Given the description of an element on the screen output the (x, y) to click on. 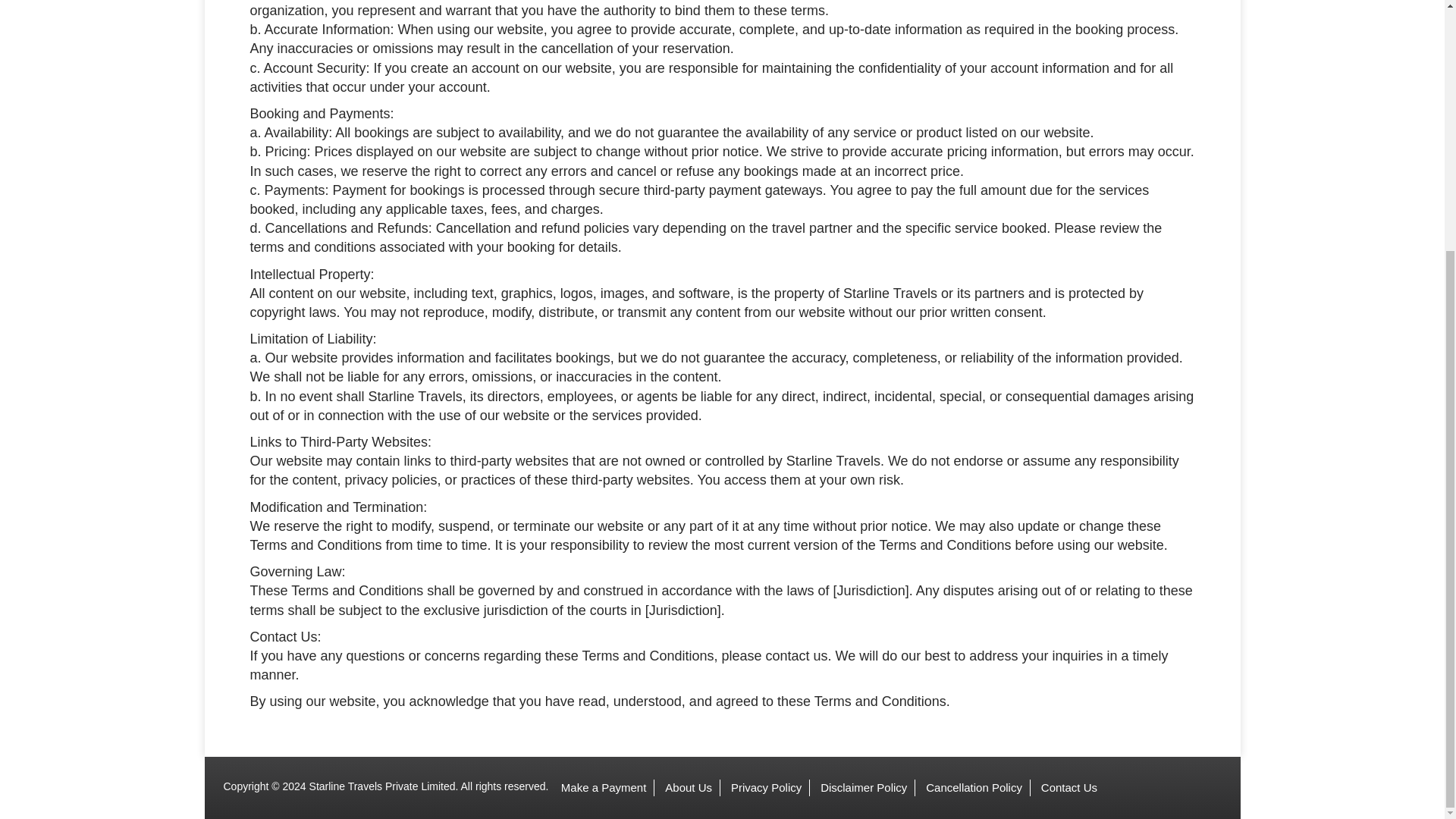
Make a Payment (603, 787)
Disclaimer Policy (863, 787)
Cancellation Policy (973, 787)
Privacy Policy (766, 787)
Contact Us (1069, 787)
About Us (688, 787)
